Given the description of an element on the screen output the (x, y) to click on. 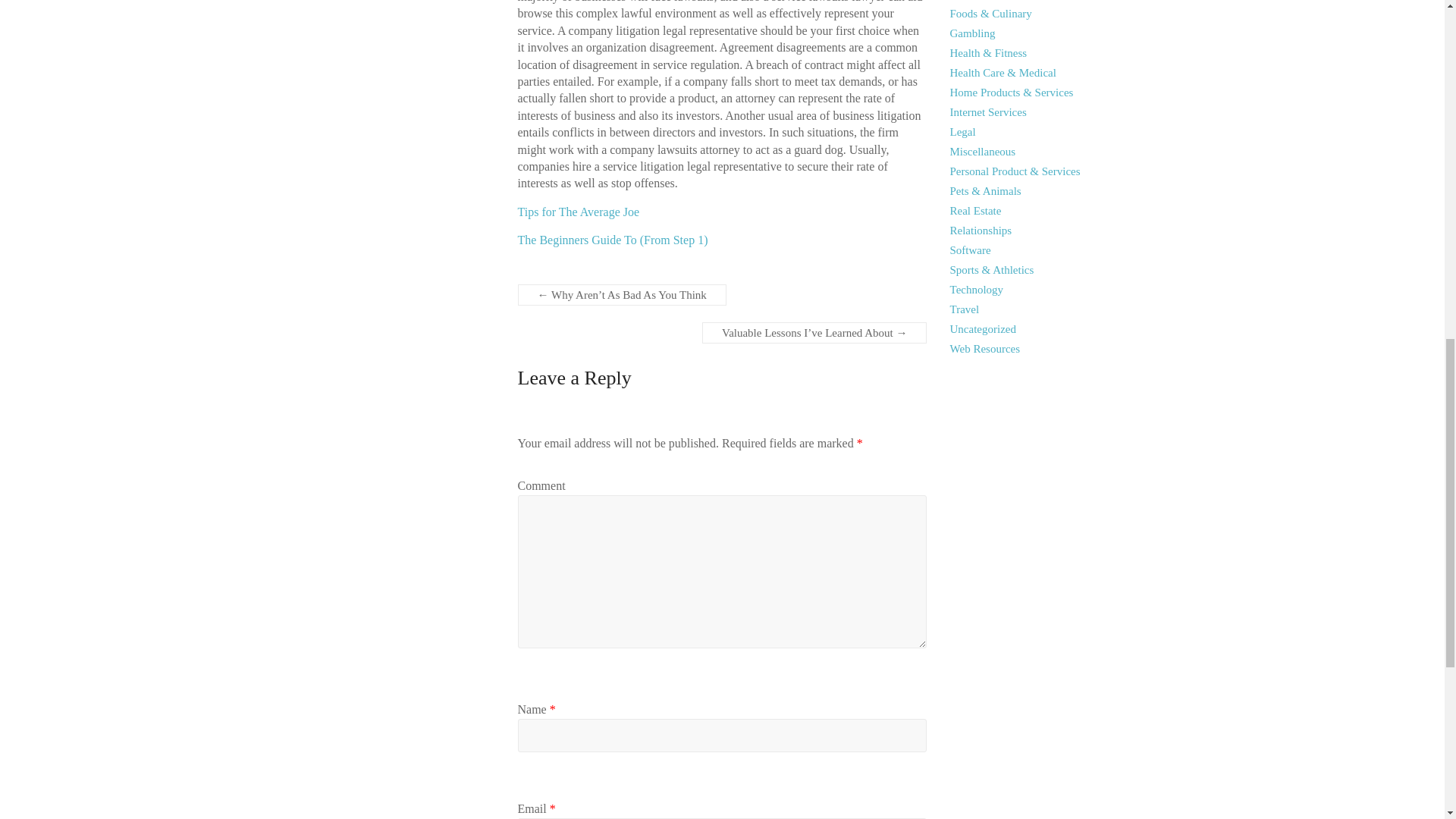
Gambling (972, 33)
Tips for The Average Joe (577, 211)
